Given the description of an element on the screen output the (x, y) to click on. 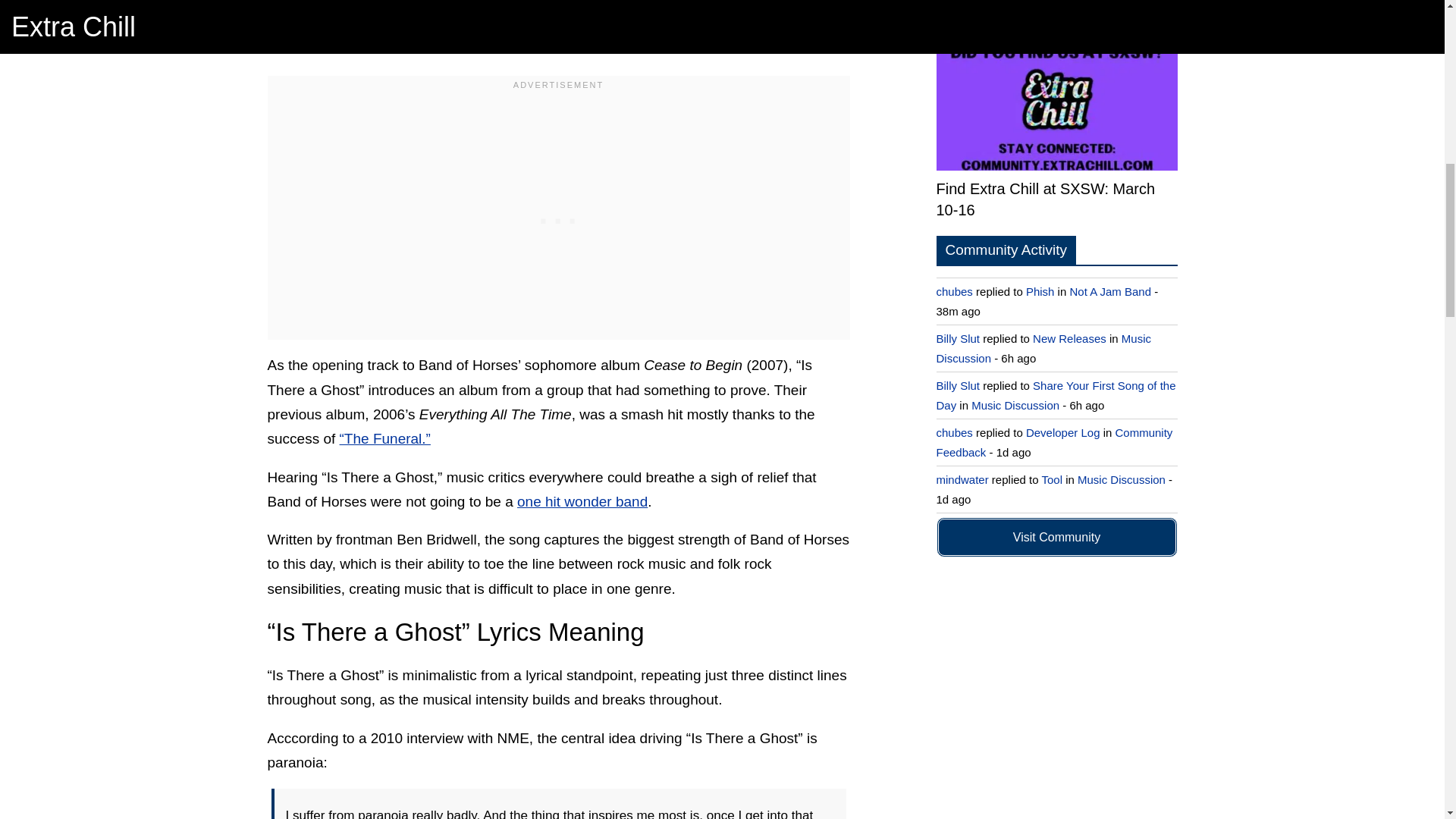
one hit wonder band (581, 501)
